Given the description of an element on the screen output the (x, y) to click on. 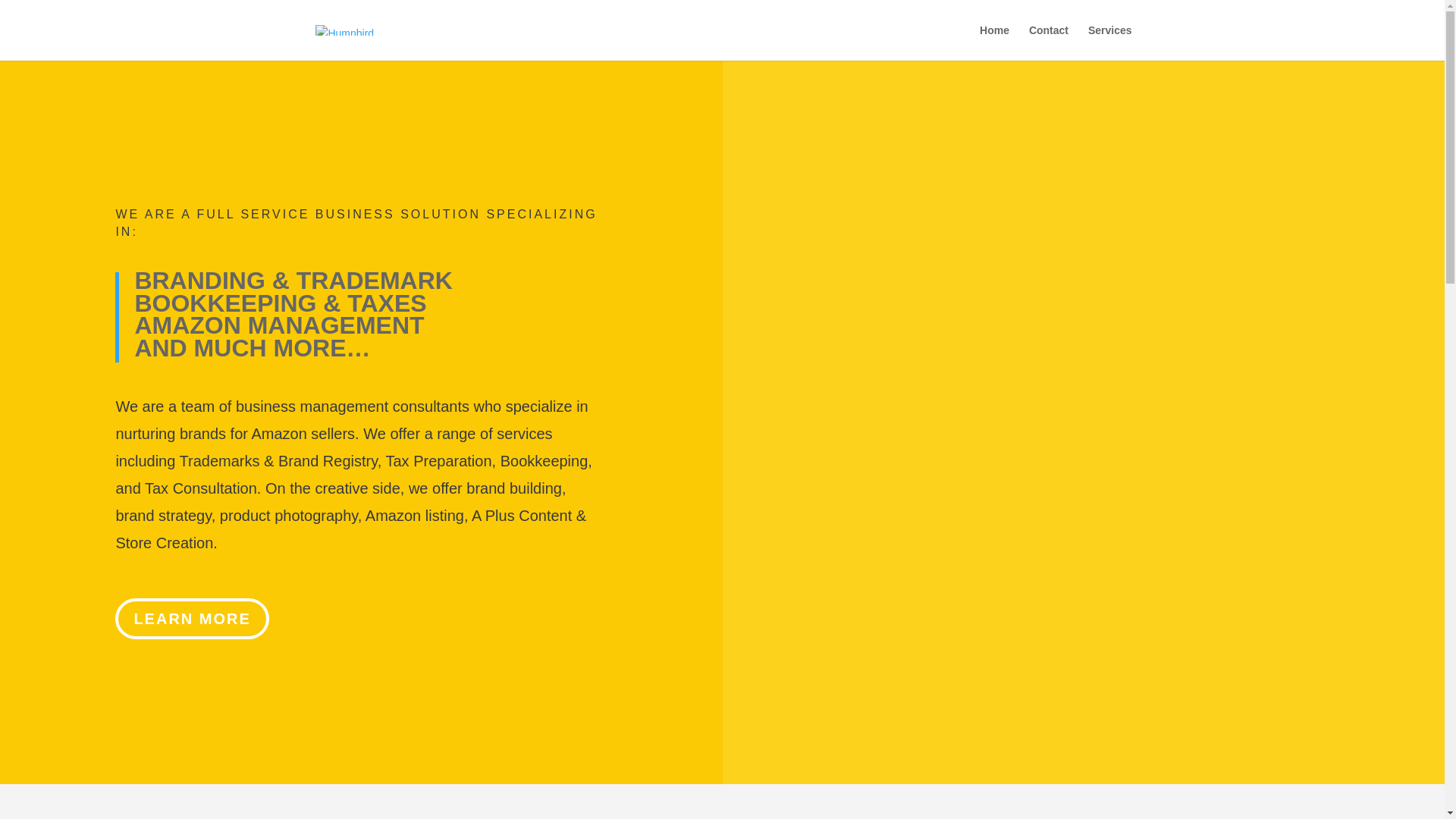
Services (1109, 42)
Contact (1048, 42)
LEARN MORE (191, 618)
